Given the description of an element on the screen output the (x, y) to click on. 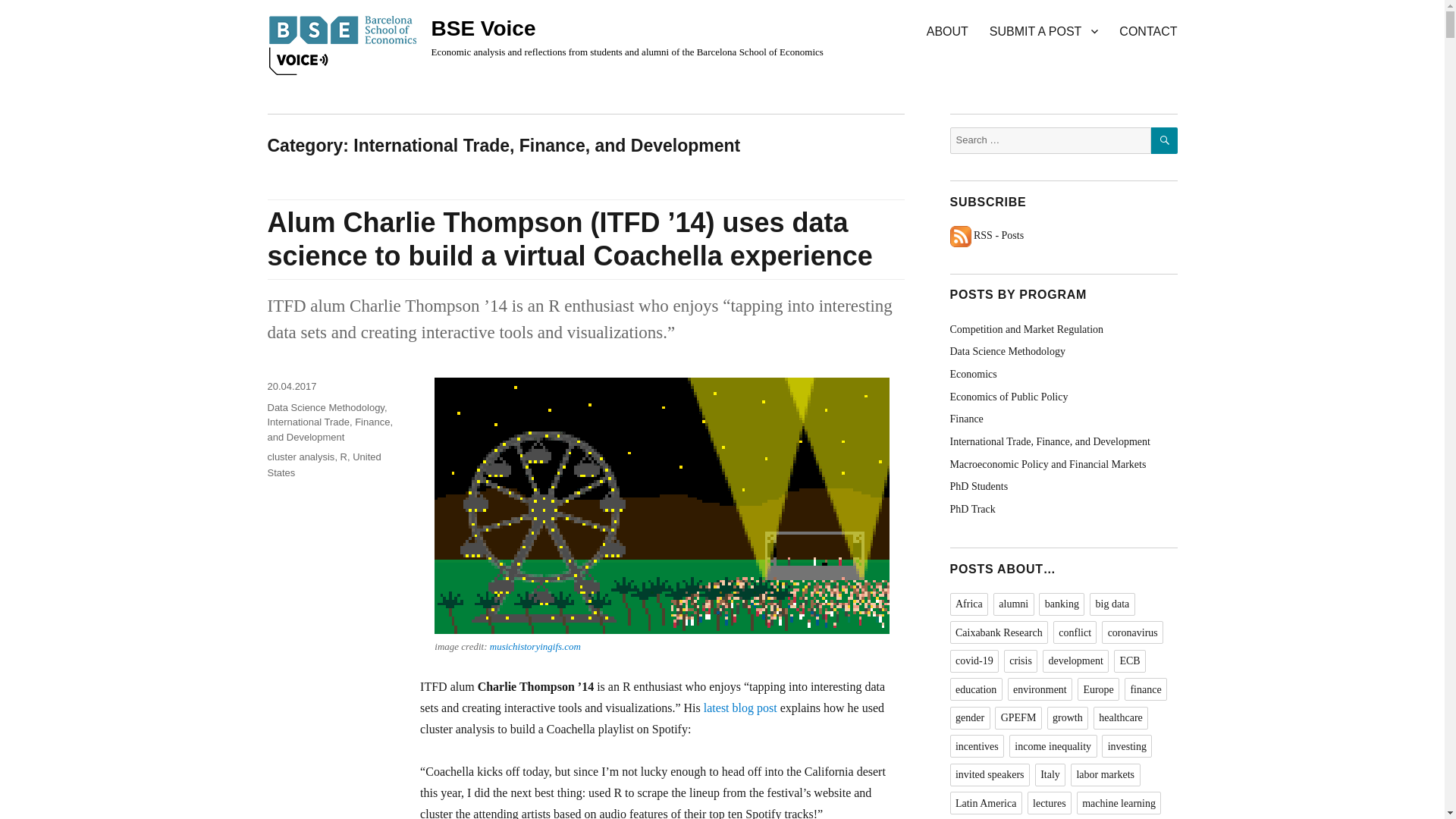
Data Science Methodology (325, 407)
International Trade, Finance, and Development (329, 429)
Subscribe to posts (986, 235)
musichistoryingifs.com (534, 645)
United States (323, 464)
Search for: (1049, 140)
SUBMIT A POST (1043, 30)
ABOUT (946, 30)
CONTACT (1148, 30)
latest blog post (740, 707)
